Given the description of an element on the screen output the (x, y) to click on. 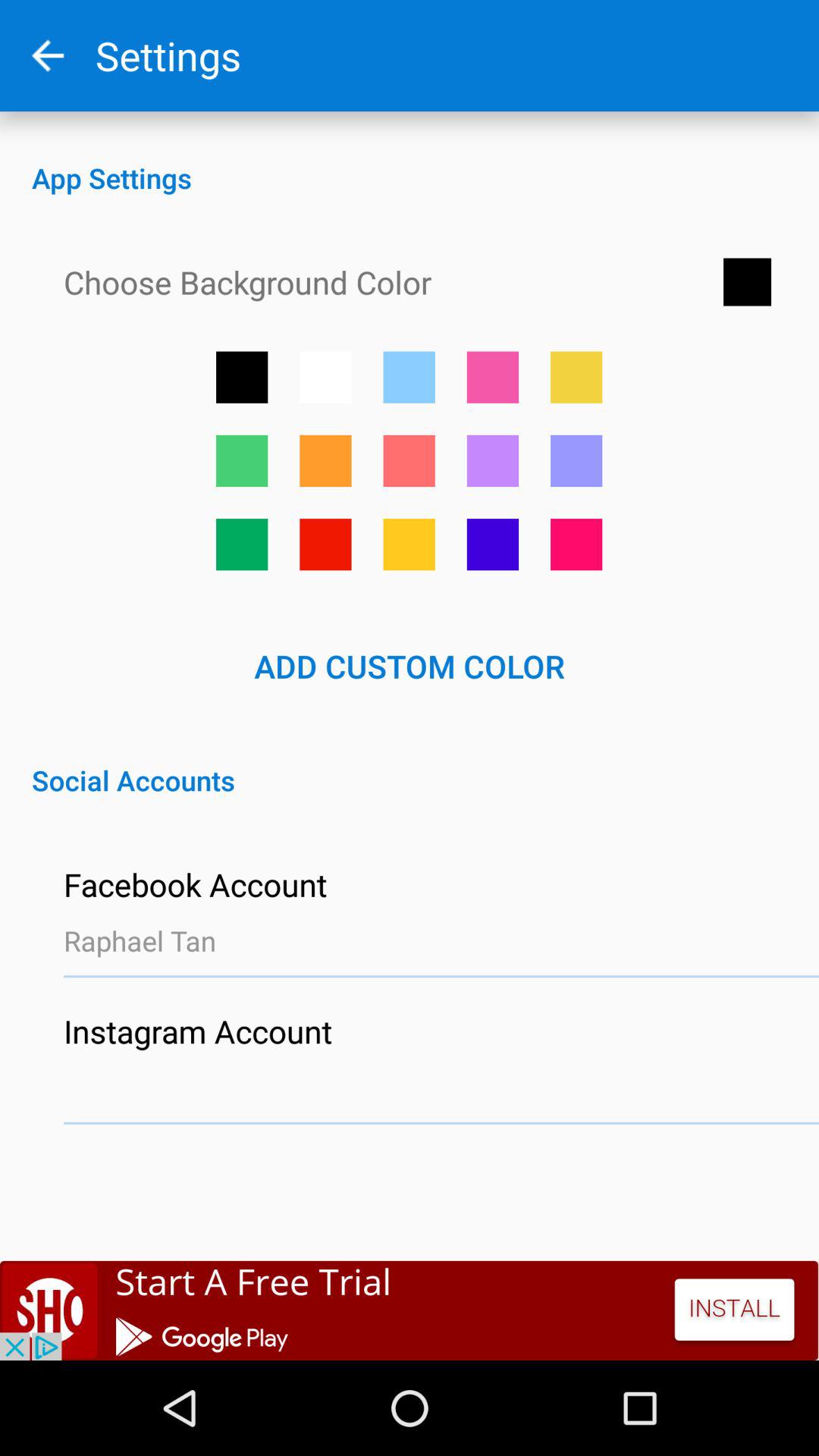
colour selection (409, 544)
